Given the description of an element on the screen output the (x, y) to click on. 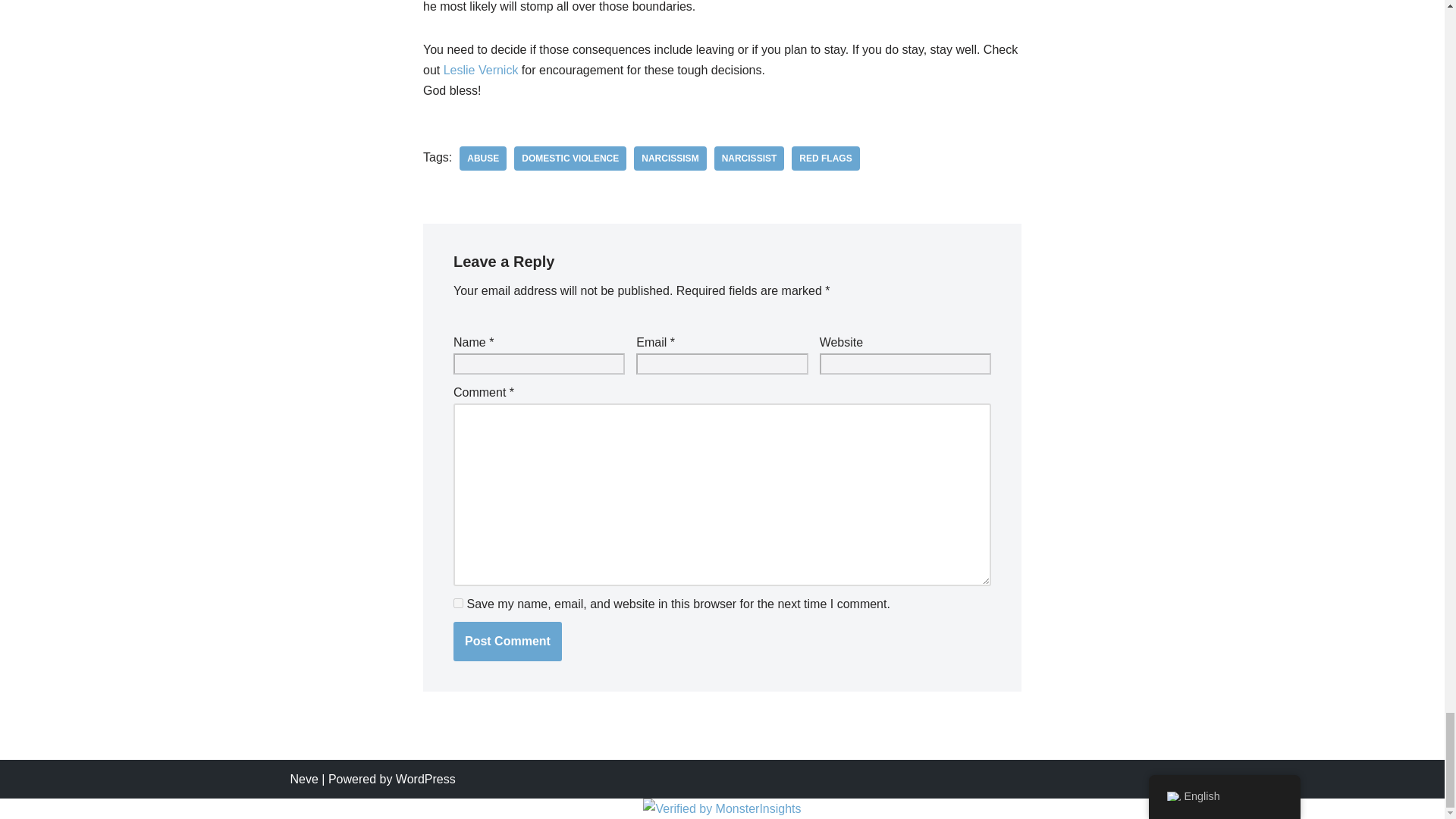
narcissist (749, 158)
Post Comment (507, 640)
narcissism (669, 158)
WordPress (425, 779)
yes (457, 603)
NARCISSISM (669, 158)
ABUSE (483, 158)
Post Comment (507, 640)
 Leslie Vernick (478, 69)
red flags (825, 158)
